Given the description of an element on the screen output the (x, y) to click on. 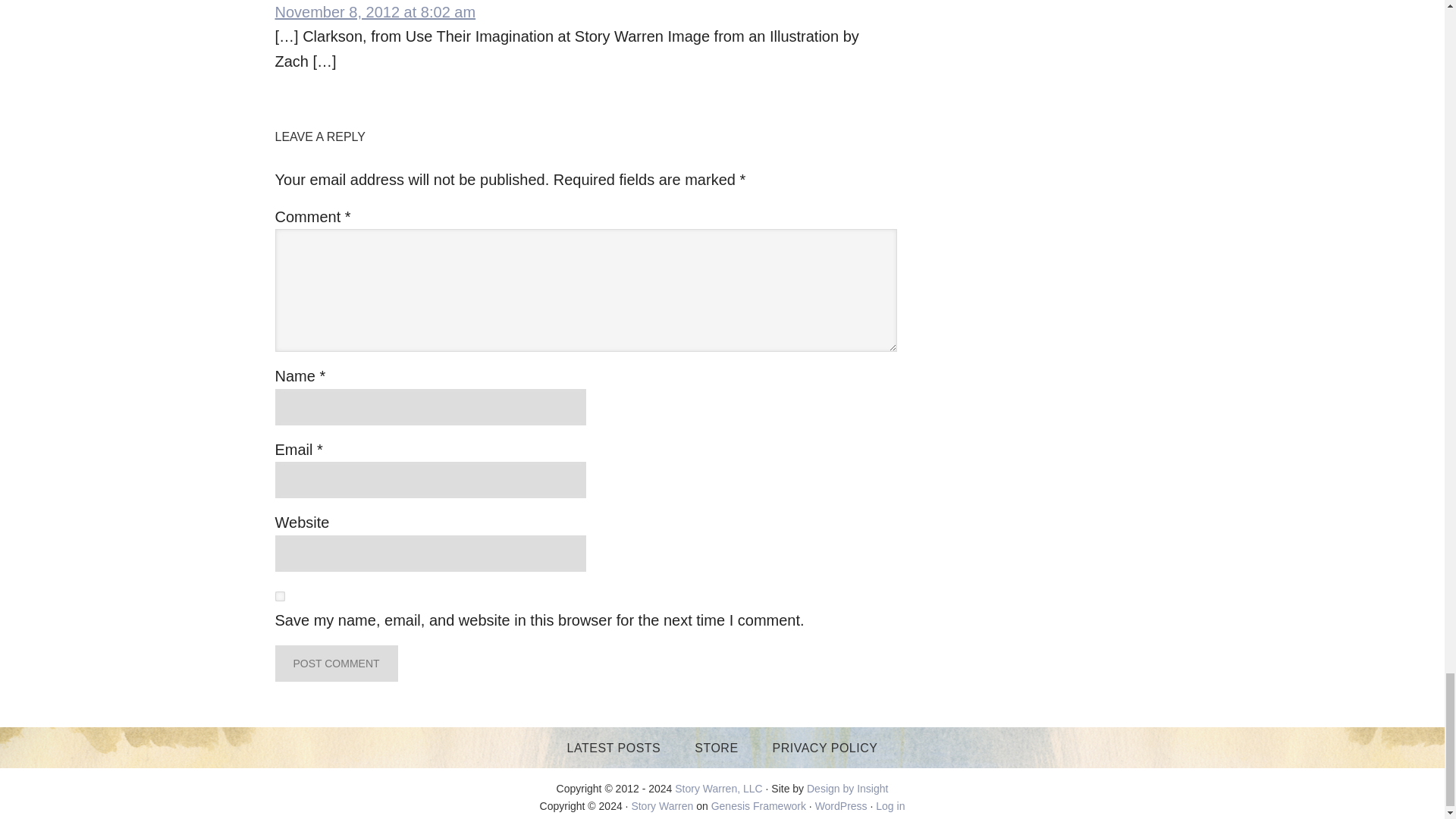
yes (279, 596)
Post Comment (336, 663)
